Given the description of an element on the screen output the (x, y) to click on. 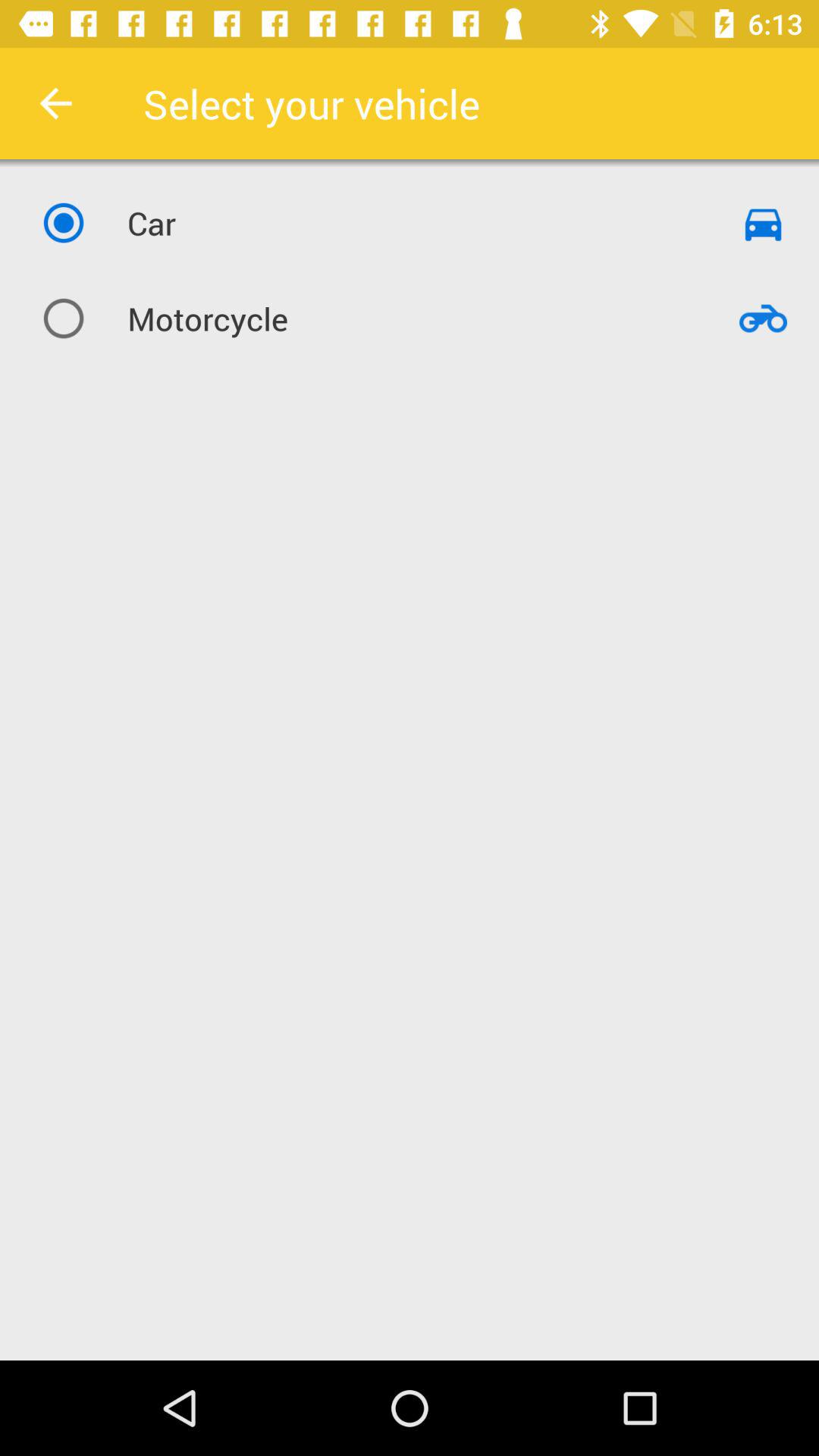
go back (55, 103)
